Given the description of an element on the screen output the (x, y) to click on. 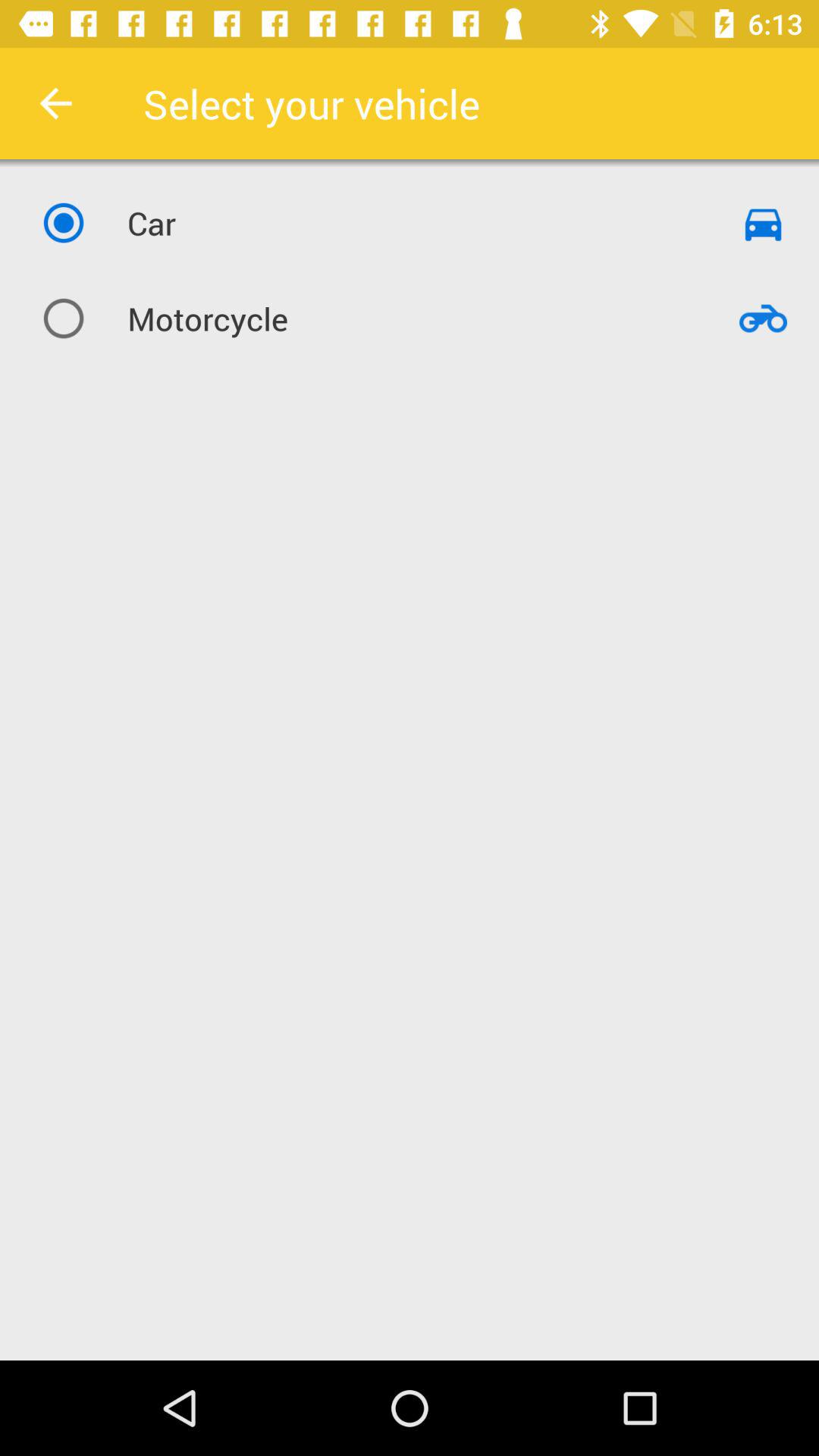
go back (55, 103)
